Given the description of an element on the screen output the (x, y) to click on. 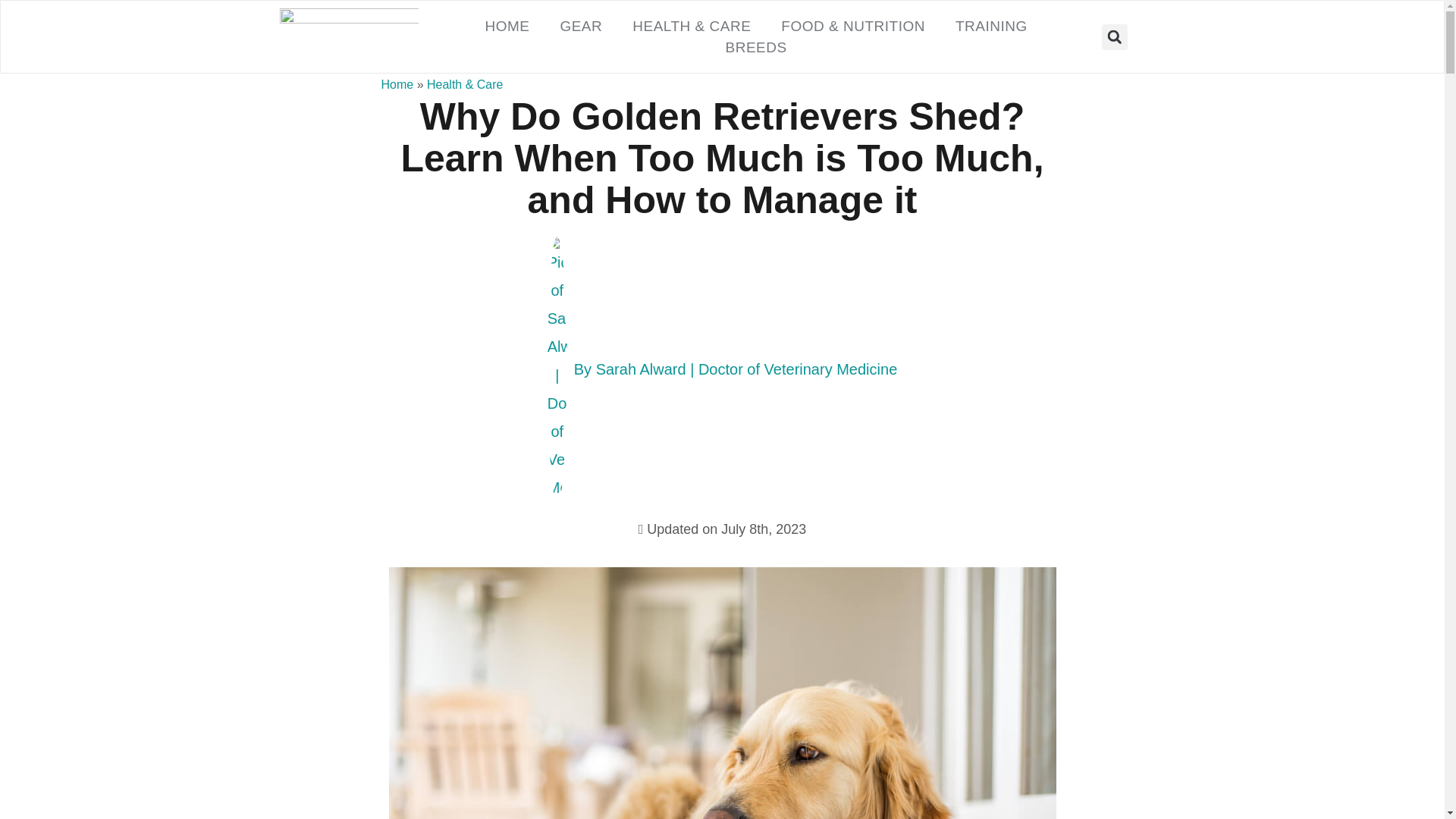
Home (396, 83)
GEAR (580, 25)
HOME (506, 25)
TRAINING (991, 25)
BREEDS (756, 46)
